Given the description of an element on the screen output the (x, y) to click on. 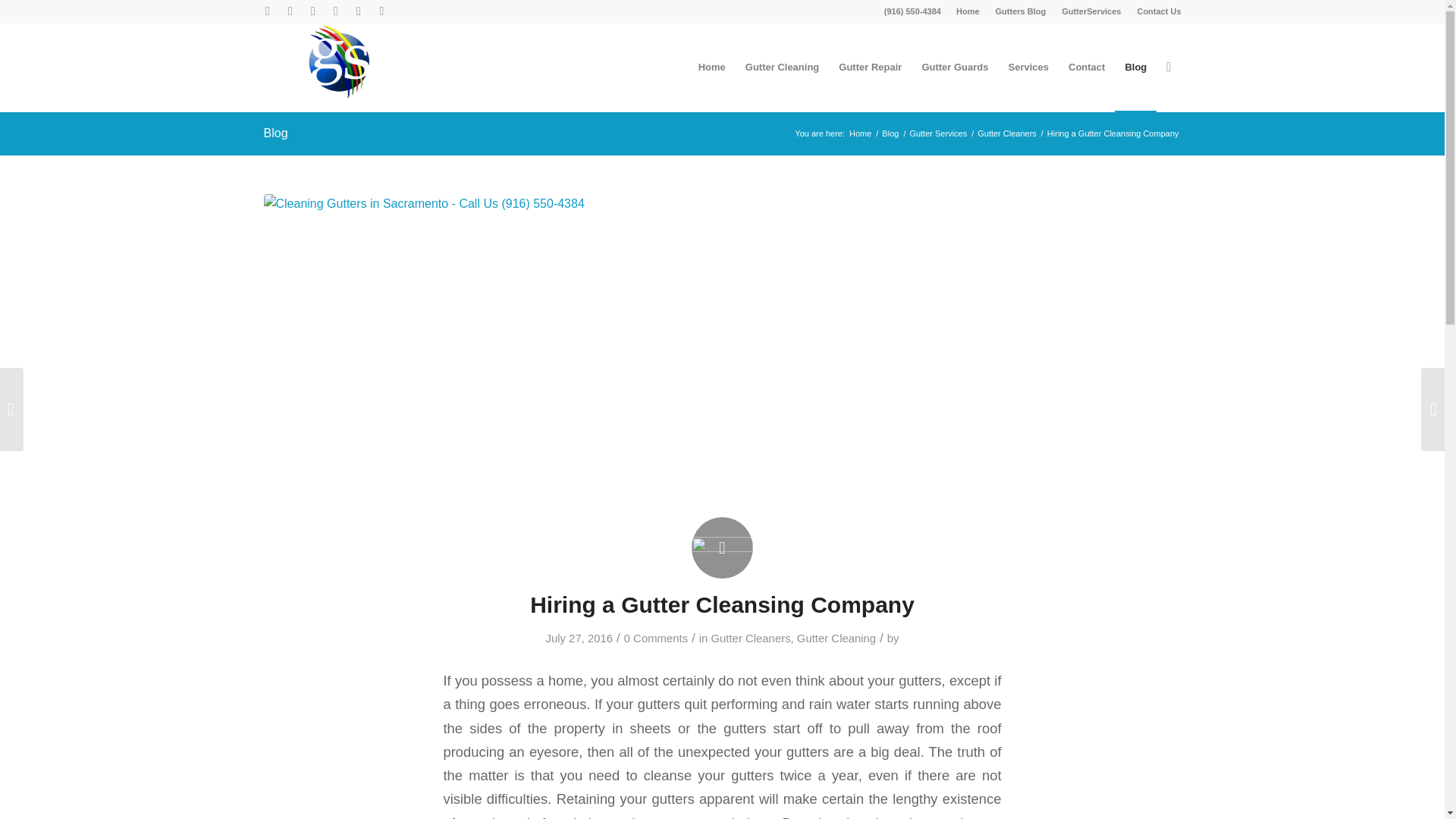
Home (967, 11)
Gutter Repair (869, 67)
GutterServices (1091, 11)
Contact Us in Sacramento, California (1158, 11)
Facebook (335, 11)
Affordable Gutter Cleaning (782, 67)
Blog (890, 133)
Gutter Cleaners (750, 638)
Gutter Cleaning (782, 67)
Gutters of Sacramento Logo (338, 61)
Blog (275, 132)
Rss (381, 11)
Twitter (267, 11)
Gutters Blog (1020, 11)
0 Comments (655, 638)
